Given the description of an element on the screen output the (x, y) to click on. 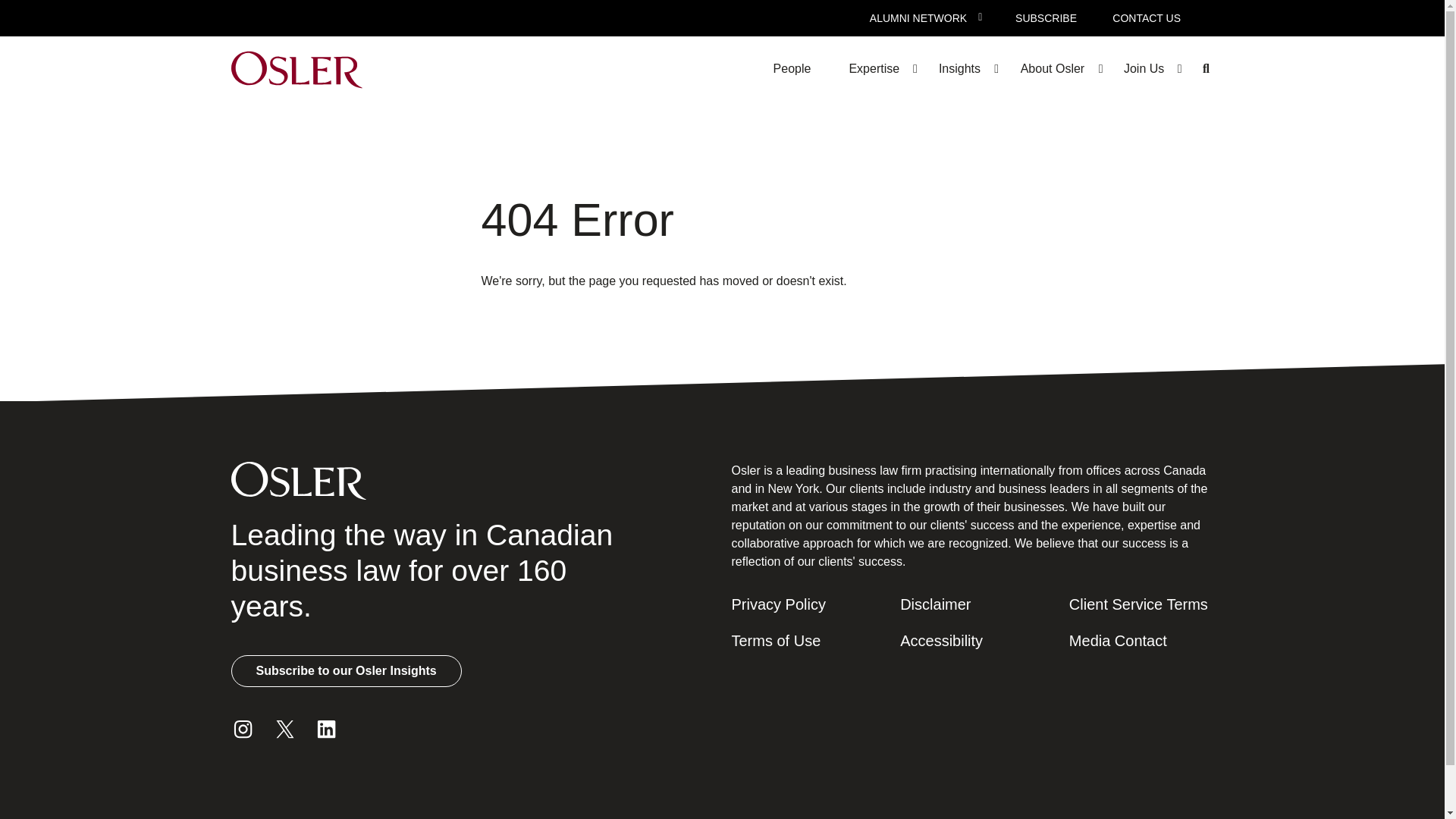
CONTACT US (1146, 18)
About Osler (1051, 68)
ALUMNI NETWORK (918, 18)
Expertise (874, 68)
SUBSCRIBE (1044, 18)
ALUMNI NETWORK (918, 18)
Osler Logo (295, 68)
CONTACT US (1146, 18)
SUBSCRIBE (1044, 18)
